Given the description of an element on the screen output the (x, y) to click on. 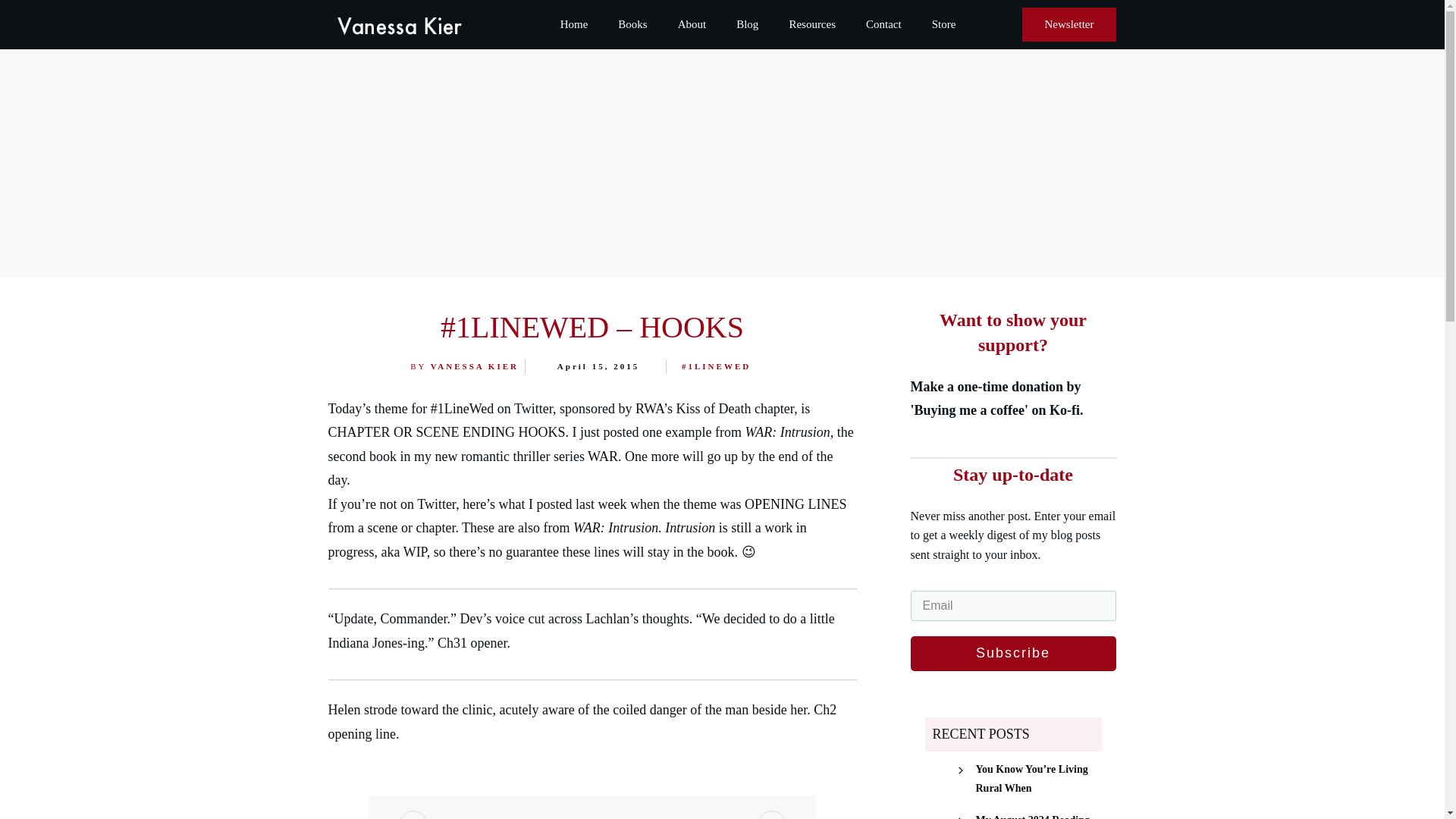
My August 2024 Reading List (1037, 814)
Resources (812, 24)
Contact (883, 24)
Newsletter (1069, 24)
Next (711, 807)
About (692, 24)
VANESSA KIER (474, 366)
Previous (486, 807)
Subscribe (1012, 653)
Home (574, 24)
